Given the description of an element on the screen output the (x, y) to click on. 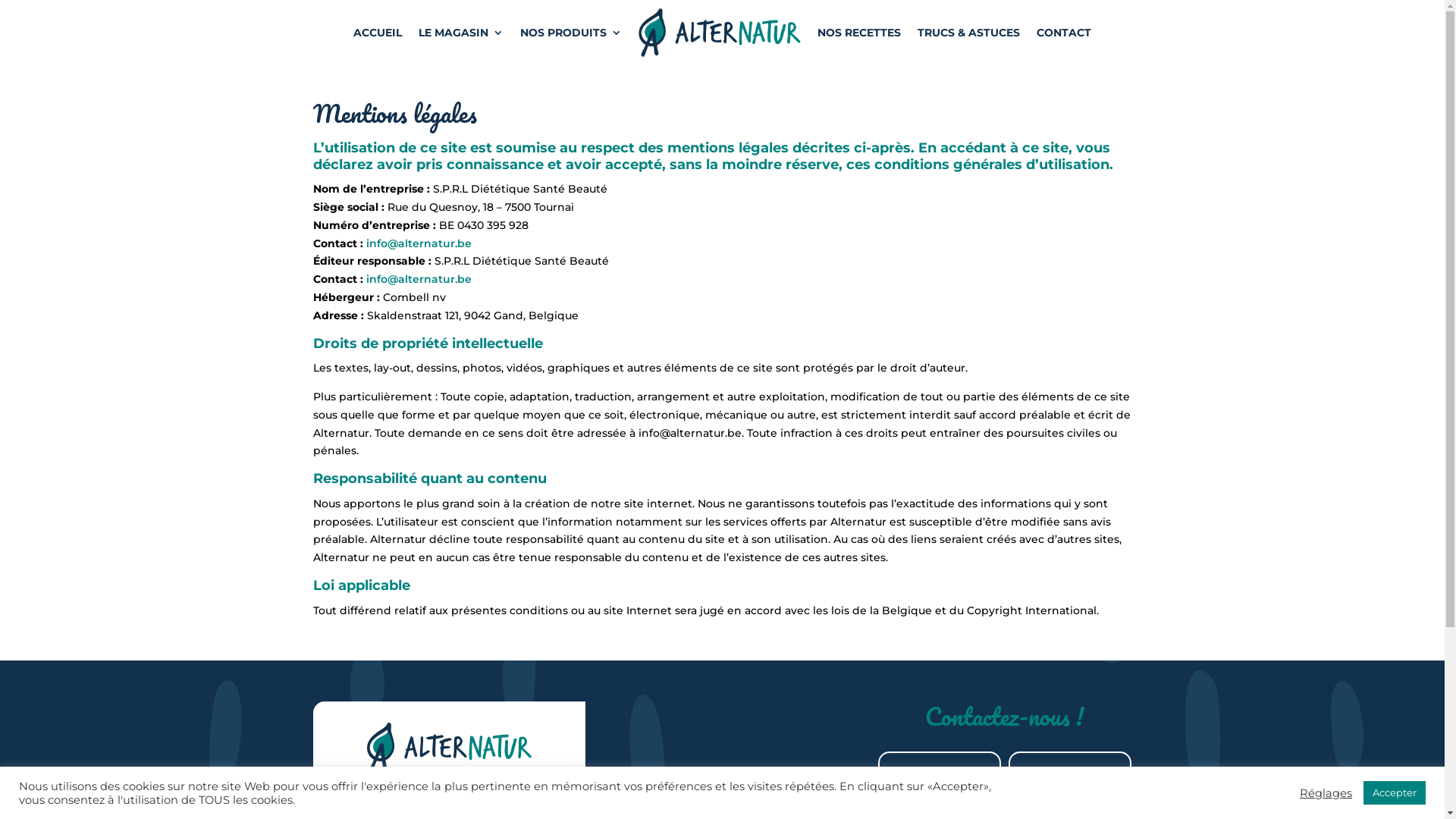
ACCUEIL Element type: text (377, 32)
LE MAGASIN Element type: text (460, 32)
info@alternatur.be Element type: text (417, 243)
info@alternatur.be Element type: text (417, 278)
NOS RECETTES Element type: text (858, 32)
AlterNatur | Logo Element type: hover (449, 746)
CONTACT Element type: text (1063, 32)
NOS PRODUITS Element type: text (570, 32)
TRUCS & ASTUCES Element type: text (968, 32)
Accepter Element type: text (1394, 792)
